Given the description of an element on the screen output the (x, y) to click on. 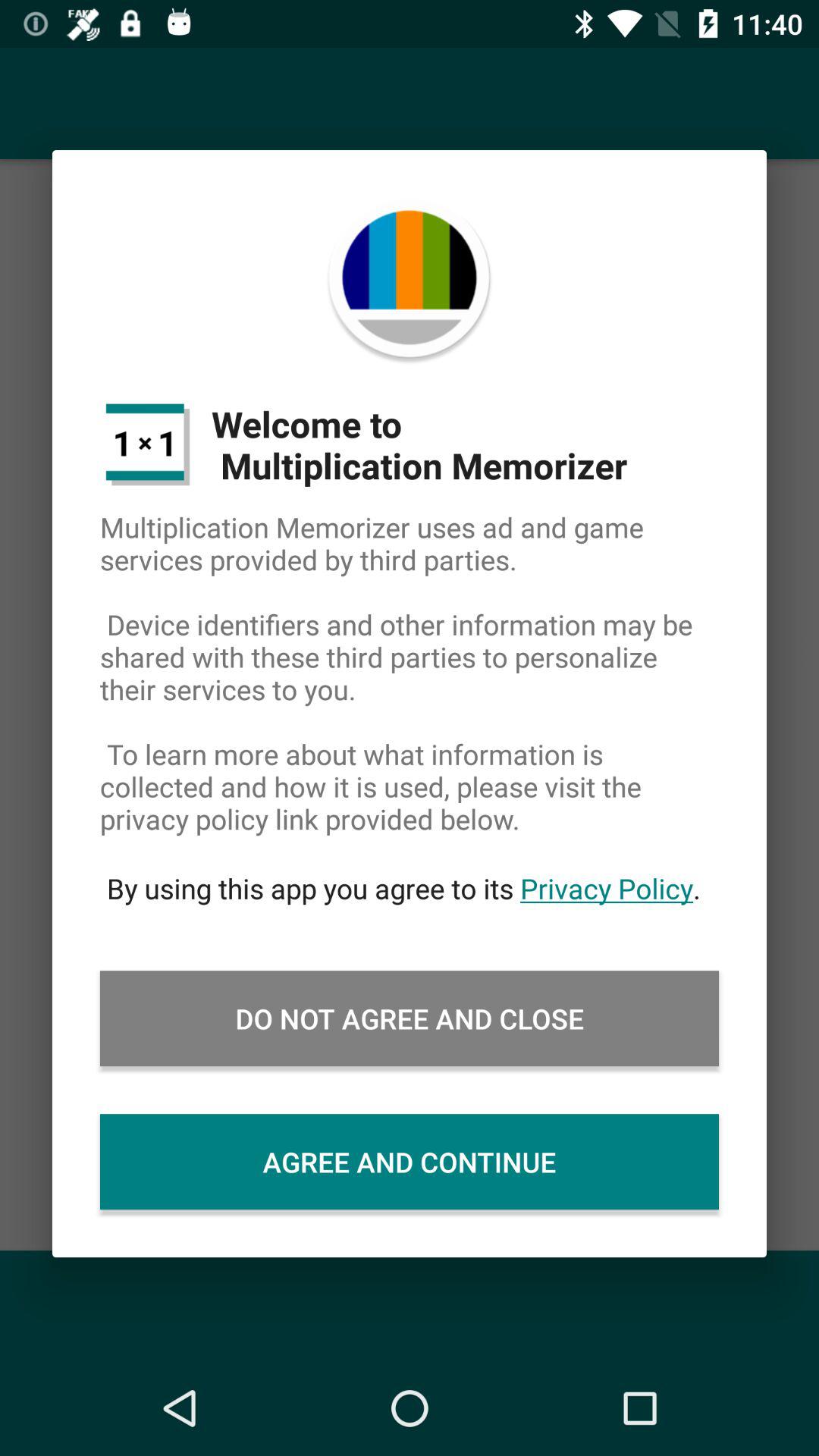
turn off the by using this icon (409, 888)
